Given the description of an element on the screen output the (x, y) to click on. 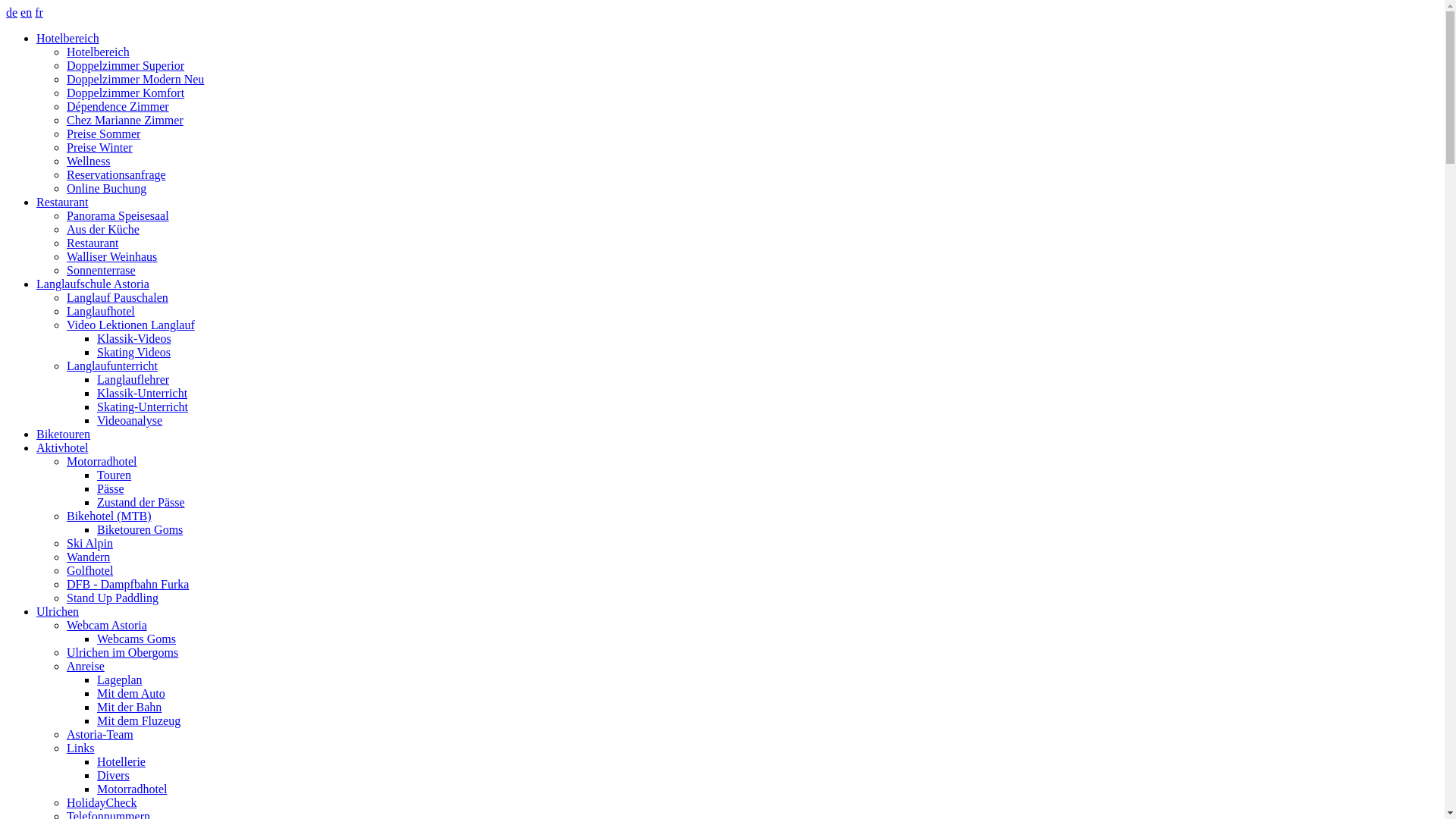
Links Element type: text (80, 747)
Preise Winter Element type: text (99, 147)
Preise Sommer Element type: text (103, 133)
Skating-Unterricht Element type: text (142, 406)
Videoanalyse Element type: text (129, 420)
Motorradhotel Element type: text (131, 788)
Doppelzimmer Modern Neu Element type: text (134, 78)
Mit der Bahn Element type: text (129, 706)
Aktivhotel Element type: text (61, 447)
Mit dem Auto Element type: text (131, 693)
Langlauflehrer Element type: text (133, 379)
Touren Element type: text (114, 474)
Langlaufhotel Element type: text (100, 310)
Restaurant Element type: text (61, 201)
Ulrichen Element type: text (57, 611)
Hotellerie Element type: text (121, 761)
de Element type: text (11, 12)
Biketouren Element type: text (63, 433)
Langlaufschule Astoria Element type: text (92, 283)
Motorradhotel Element type: text (101, 461)
Bikehotel (MTB) Element type: text (108, 515)
Restaurant Element type: text (92, 242)
Webcams Goms Element type: text (136, 638)
Sonnenterrase Element type: text (100, 269)
Doppelzimmer Superior Element type: text (125, 65)
Panorama Speisesaal Element type: text (117, 215)
Mit dem Fluzeug Element type: text (138, 720)
Hotelbereich Element type: text (97, 51)
Reservationsanfrage Element type: text (116, 174)
Hotelbereich Element type: text (67, 37)
HolidayCheck Element type: text (101, 802)
Stand Up Paddling Element type: text (112, 597)
Skating Videos Element type: text (133, 351)
Biketouren Goms Element type: text (139, 529)
Klassik-Unterricht Element type: text (142, 392)
Langlaufunterricht Element type: text (111, 365)
Wandern Element type: text (87, 556)
Ulrichen im Obergoms Element type: text (122, 652)
Online Buchung Element type: text (106, 188)
Chez Marianne Zimmer Element type: text (124, 119)
Webcam Astoria Element type: text (106, 624)
Divers Element type: text (113, 774)
fr Element type: text (38, 12)
Wellness Element type: text (87, 160)
Lageplan Element type: text (119, 679)
DFB - Dampfbahn Furka Element type: text (127, 583)
Anreise Element type: text (85, 665)
Langlauf Pauschalen Element type: text (117, 297)
Ski Alpin Element type: text (89, 542)
Klassik-Videos Element type: text (134, 338)
Walliser Weinhaus Element type: text (111, 256)
Golfhotel Element type: text (89, 570)
Doppelzimmer Komfort Element type: text (125, 92)
Astoria-Team Element type: text (99, 734)
en Element type: text (25, 12)
Video Lektionen Langlauf Element type: text (130, 324)
